Given the description of an element on the screen output the (x, y) to click on. 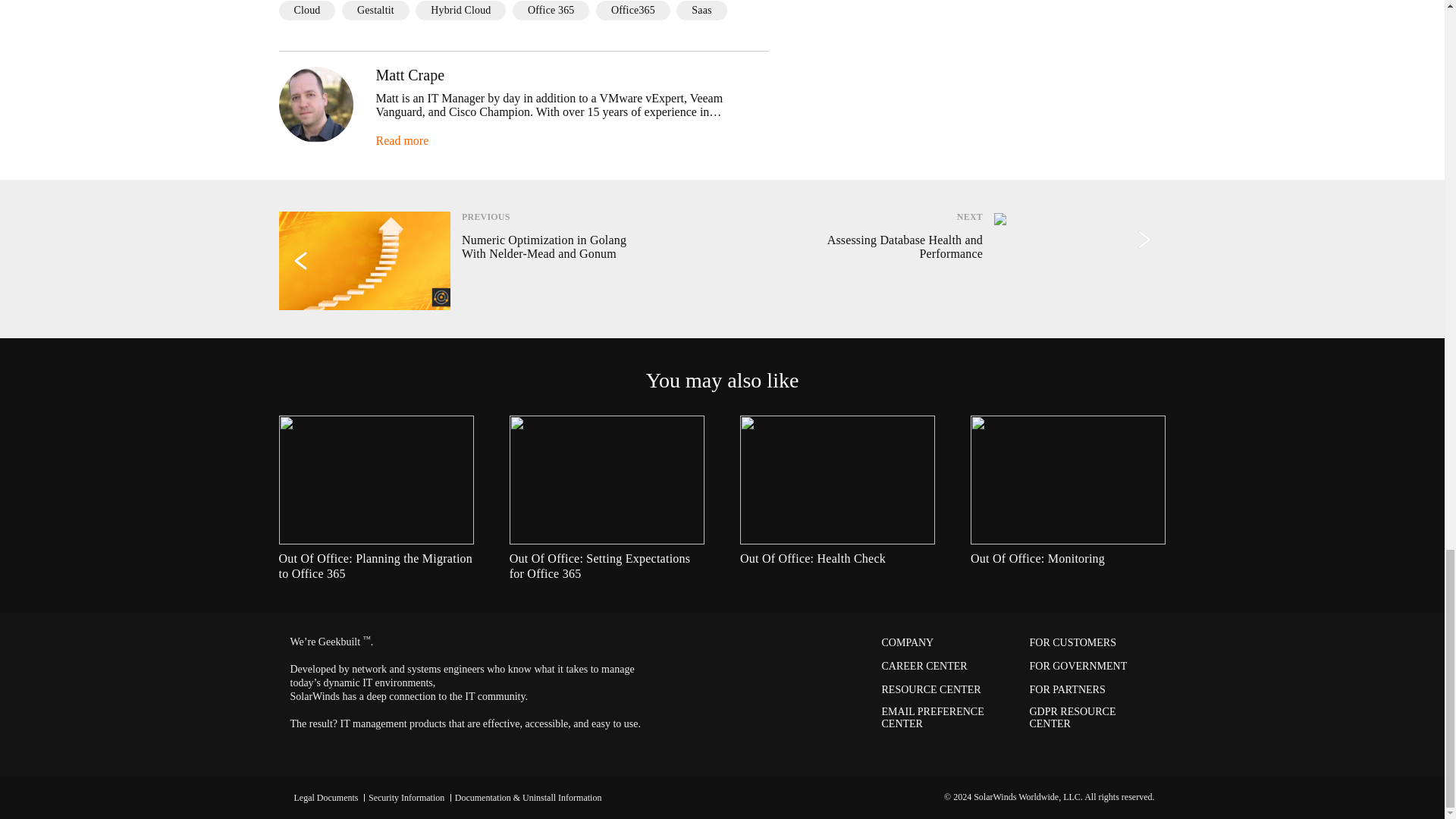
Cloud (307, 10)
